Given the description of an element on the screen output the (x, y) to click on. 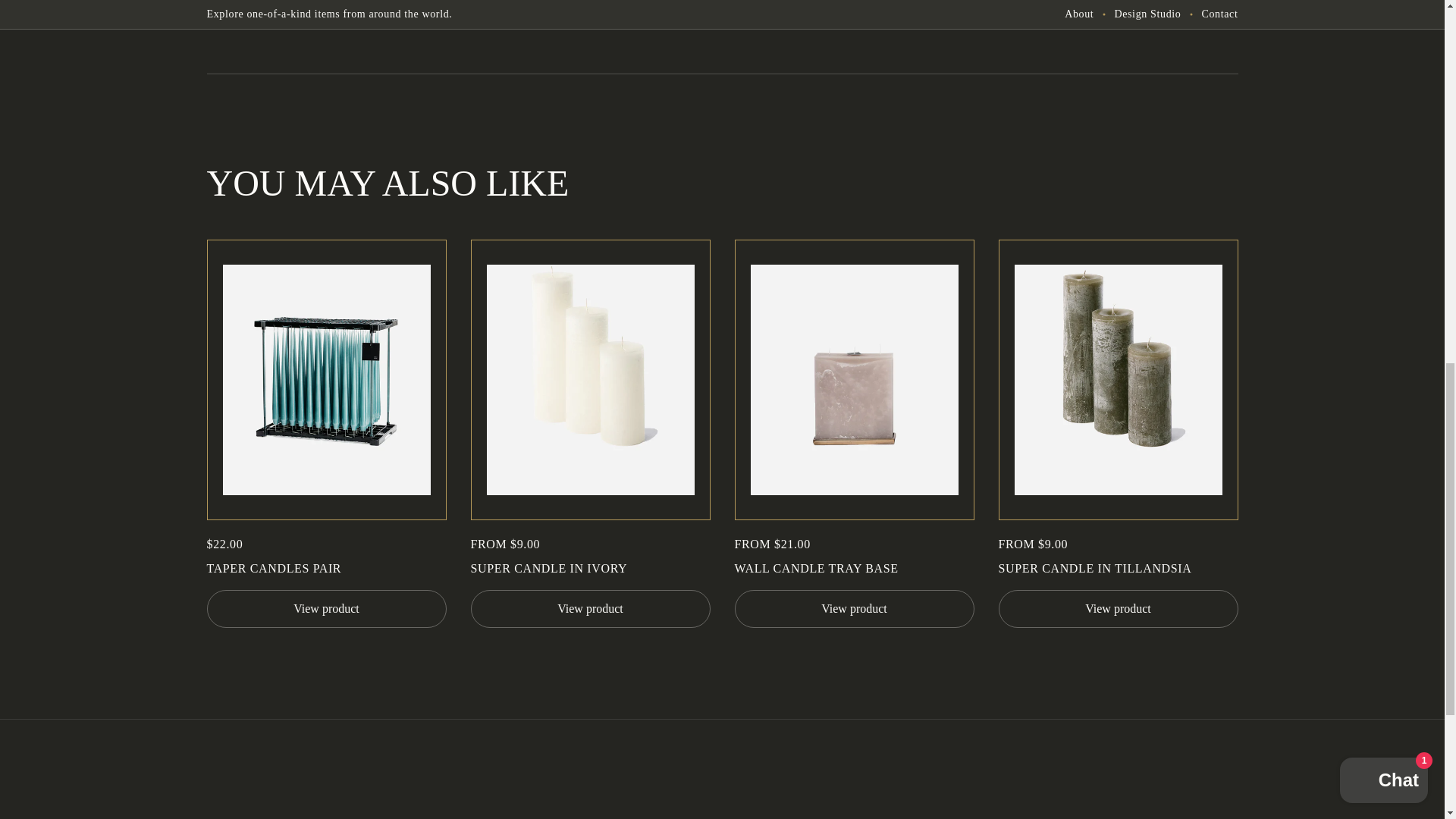
Taper Candles Pair (325, 568)
Wall Candle Tray Base (853, 568)
Super Candle in Tillandsia (1117, 568)
Super Candle in Ivory (590, 568)
